Given the description of an element on the screen output the (x, y) to click on. 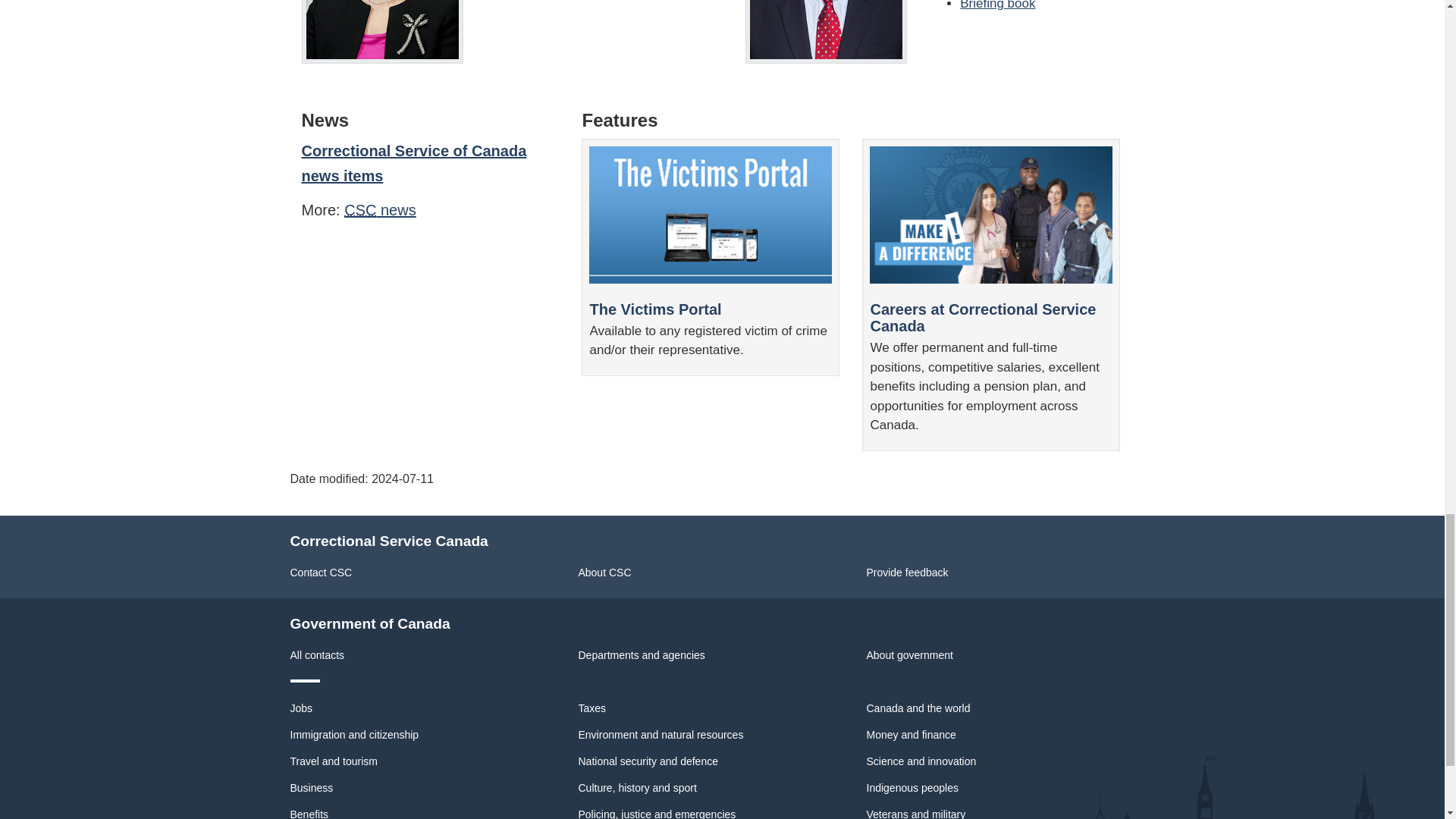
Correctional Service Canada (359, 209)
